Given the description of an element on the screen output the (x, y) to click on. 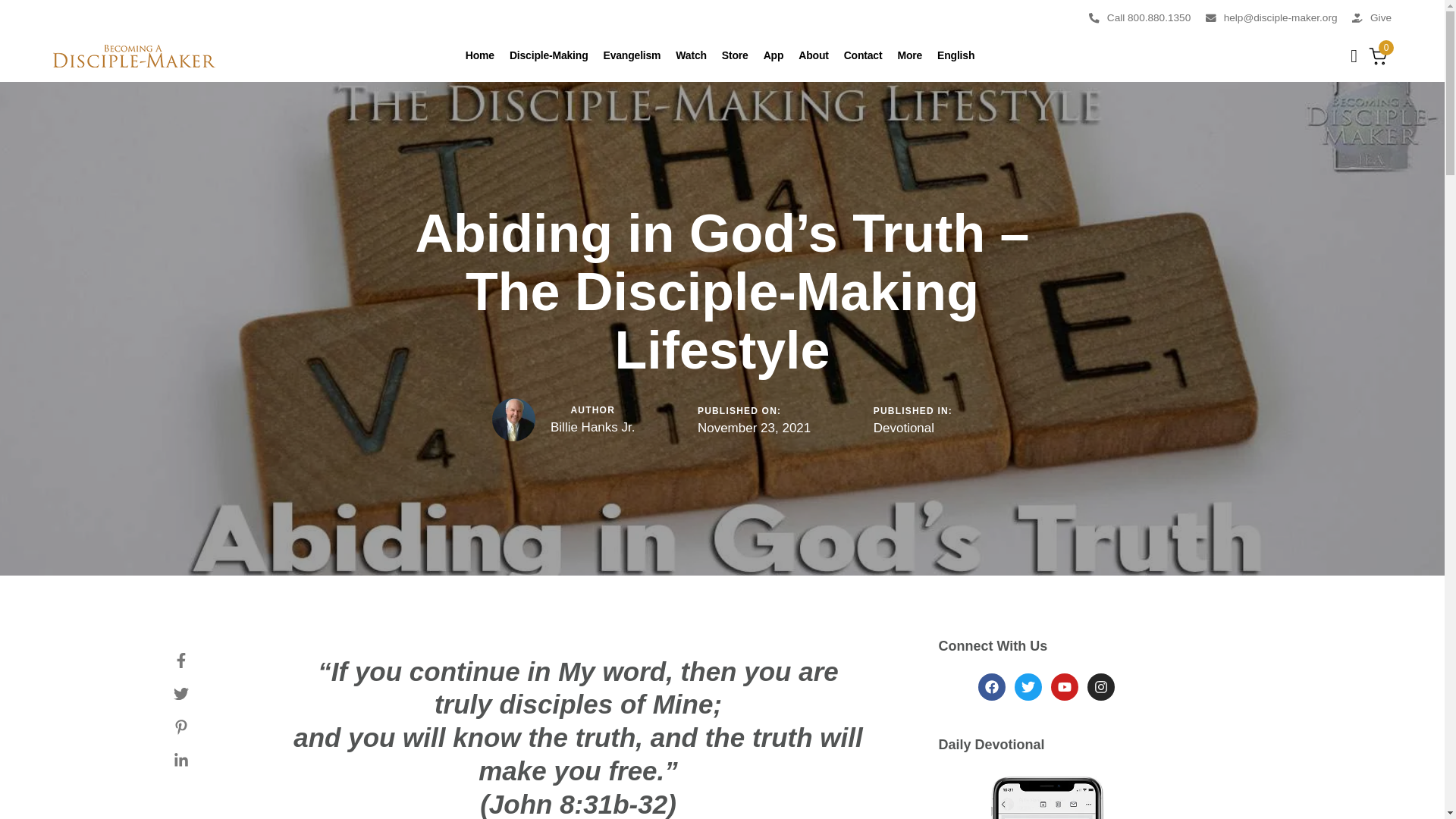
Disciple-Making (548, 55)
English (955, 55)
Home (480, 55)
Store (734, 55)
Posts by Billie Hanks Jr. (592, 427)
Give (1371, 17)
Call 800.880.1350 (1140, 17)
Watch (690, 55)
Evangelism (631, 55)
